Given the description of an element on the screen output the (x, y) to click on. 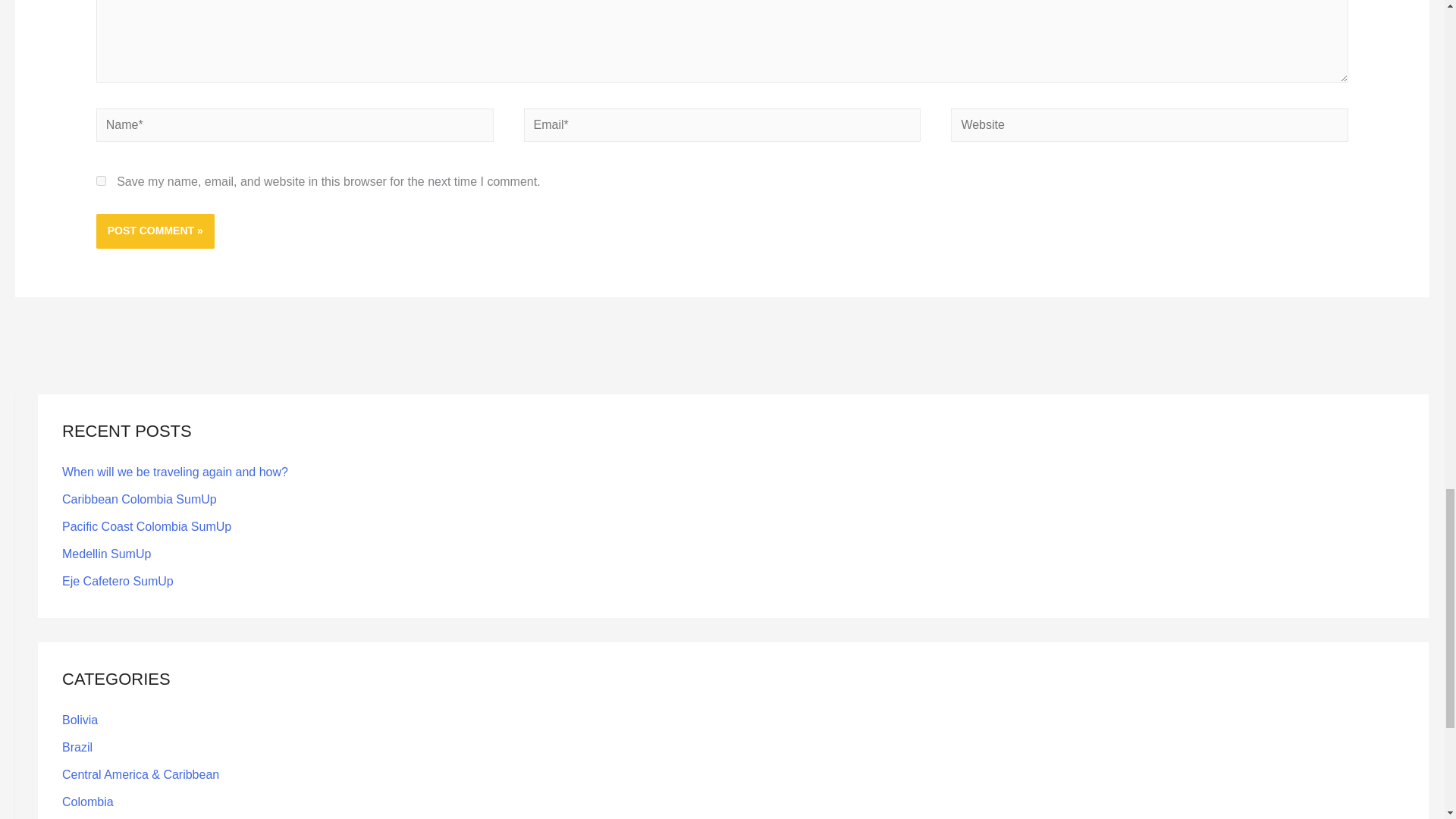
Brazil (77, 747)
Eje Cafetero SumUp (117, 581)
Medellin SumUp (106, 553)
Caribbean Colombia SumUp (139, 499)
Pacific Coast Colombia SumUp (146, 526)
yes (101, 180)
Bolivia (79, 719)
When will we be traveling again and how? (175, 472)
